Given the description of an element on the screen output the (x, y) to click on. 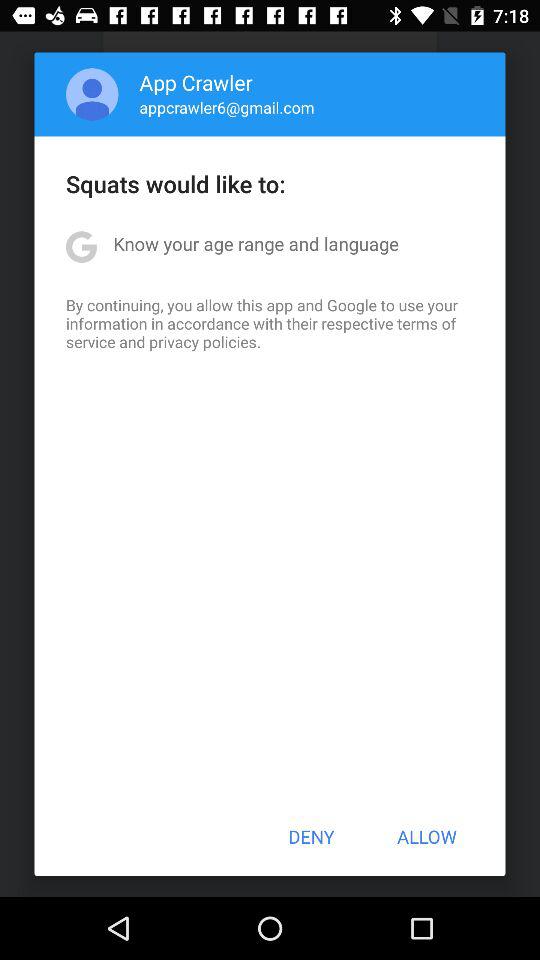
press the icon at the bottom (311, 836)
